Given the description of an element on the screen output the (x, y) to click on. 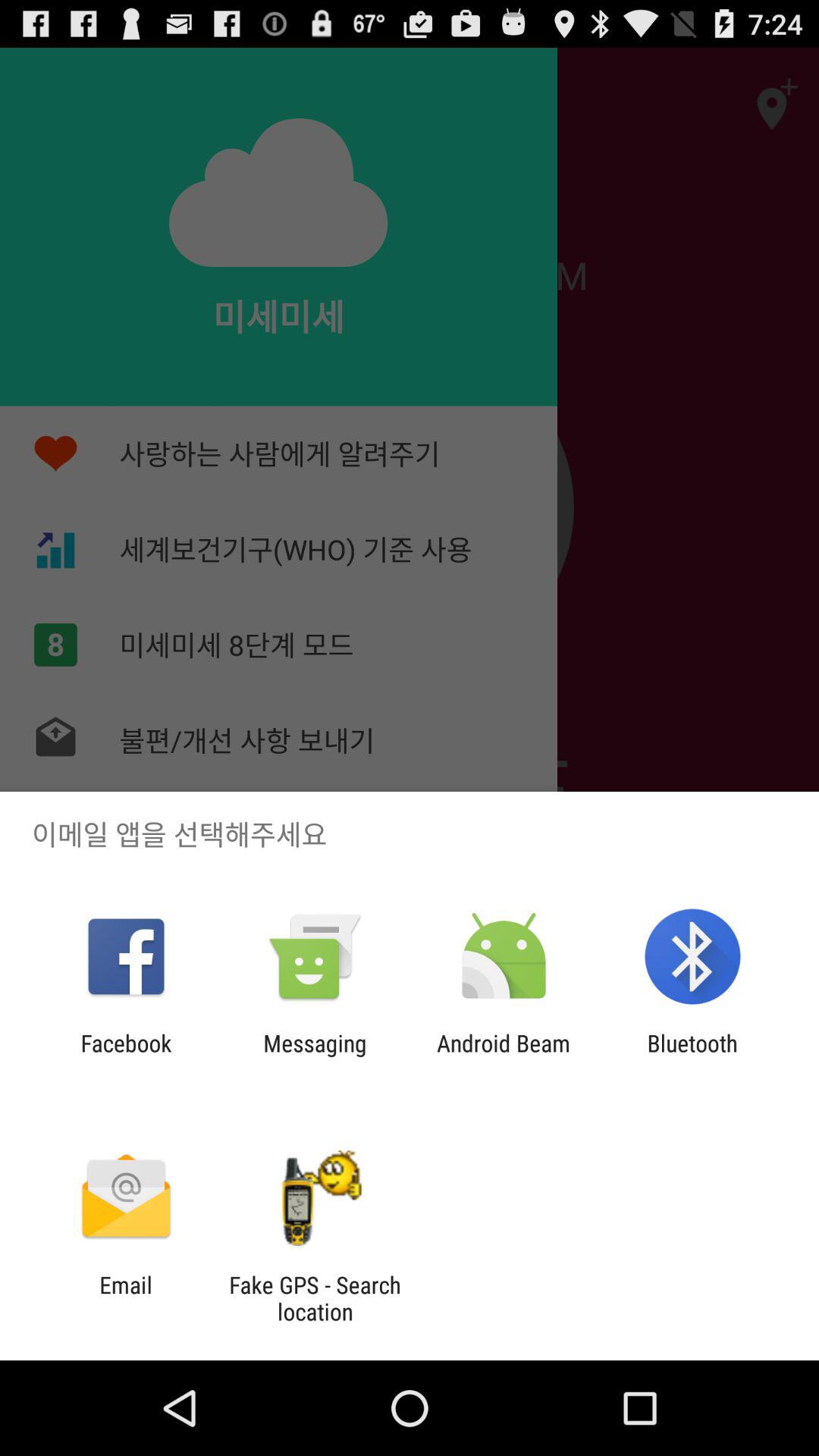
turn on the android beam icon (503, 1056)
